Given the description of an element on the screen output the (x, y) to click on. 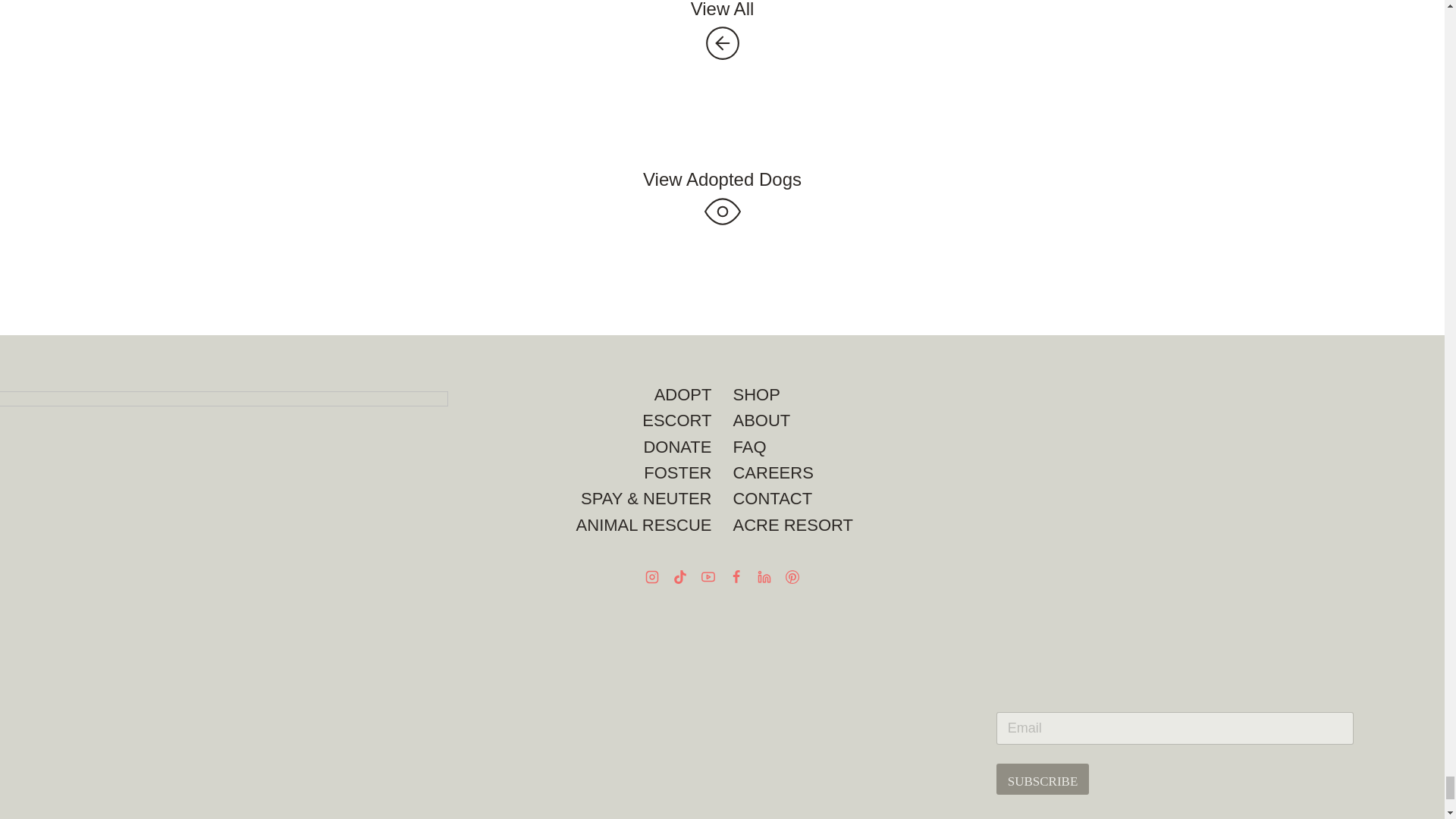
View Adopted Dogs (722, 178)
View All (722, 9)
Adopted Dogs (722, 178)
